Given the description of an element on the screen output the (x, y) to click on. 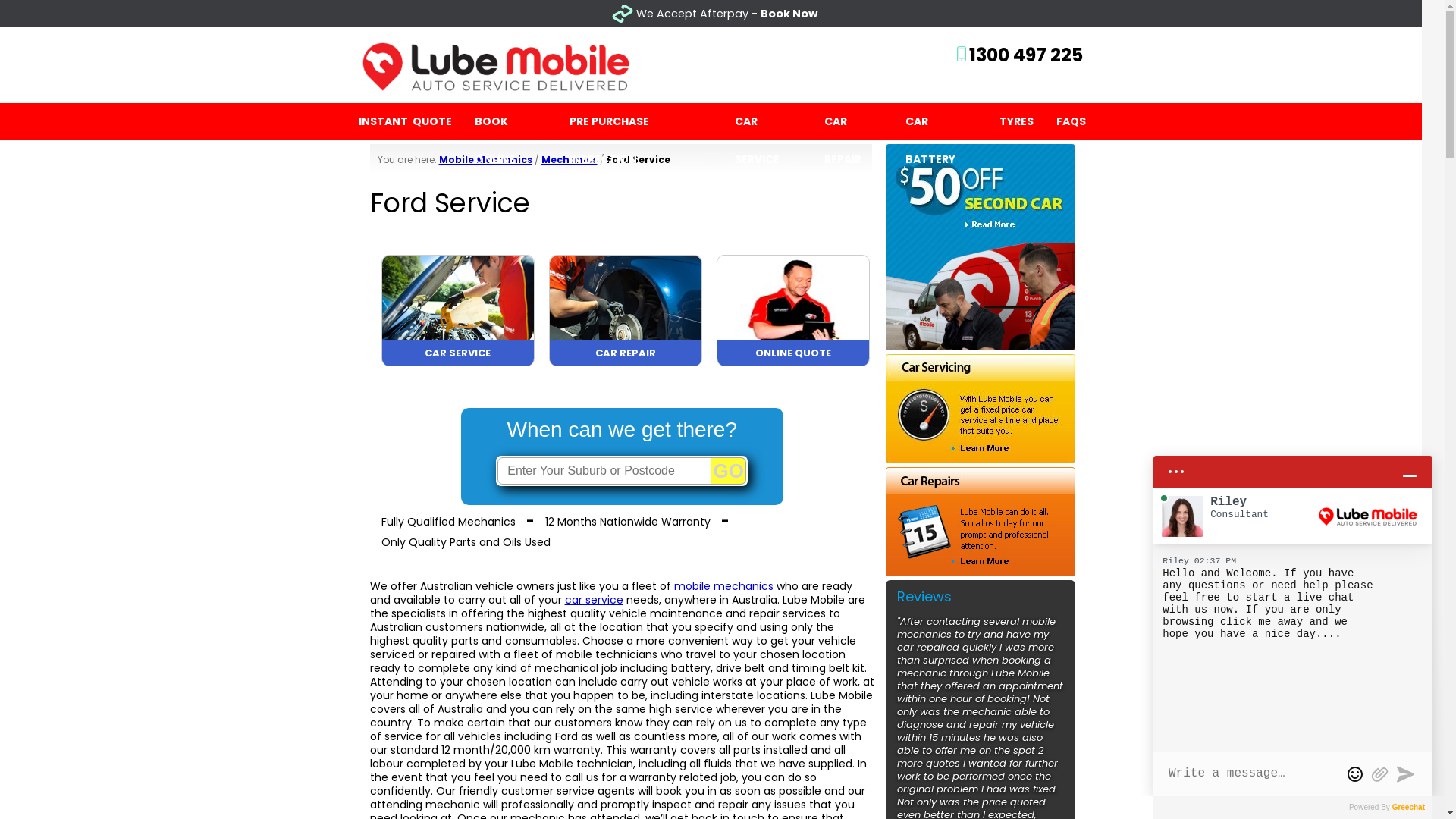
CAR SERVICE Element type: text (767, 121)
INSTANT  QUOTE Element type: text (405, 121)
LiveChat chat widget Element type: hover (1292, 619)
TYRES Element type: text (1016, 121)
PRE PURCHASE INSPECTION Element type: text (640, 121)
CAR REPAIR Element type: text (624, 361)
CAR SERVICE Element type: text (457, 361)
ONLINE QUOTE Element type: text (793, 361)
Greechat Element type: text (1408, 807)
CAR BATTERY Element type: text (941, 121)
CAR REPAIR Element type: text (853, 121)
FAQS Element type: text (1070, 121)
mobile mechanics Element type: text (722, 585)
Book Now Element type: text (788, 13)
car service Element type: text (593, 599)
Mechanics Element type: text (569, 159)
GO Element type: text (728, 470)
BOOK ONLINE Element type: text (509, 121)
Mobile Mechanics Element type: text (484, 159)
x Element type: text (1436, 14)
